Given the description of an element on the screen output the (x, y) to click on. 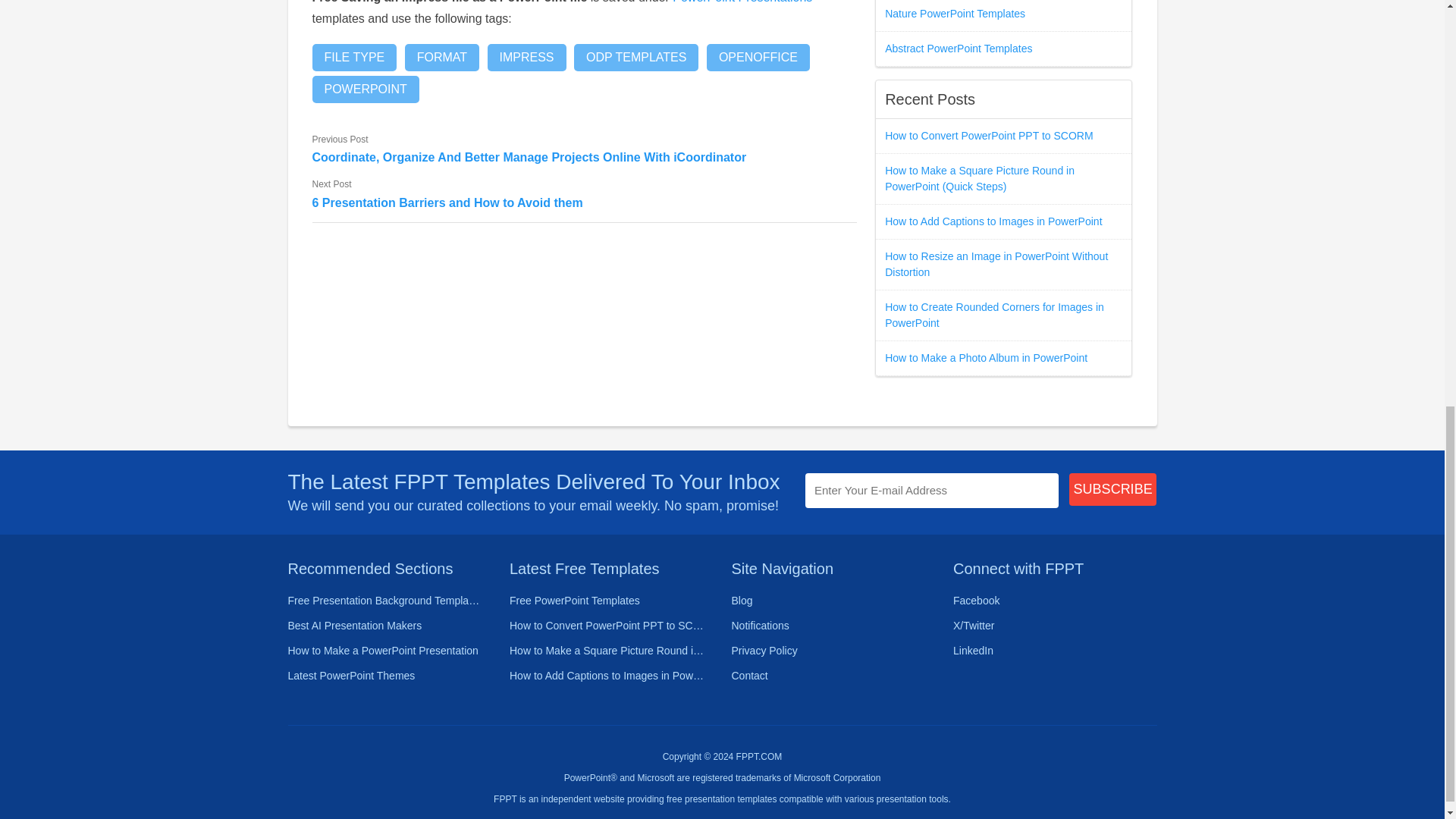
OPENOFFICE (757, 57)
FILE TYPE (355, 57)
IMPRESS (526, 57)
ODP TEMPLATES (635, 57)
FORMAT (441, 57)
POWERPOINT (366, 89)
6 Presentation Barriers and How to Avoid them (585, 202)
Subscribe (1112, 489)
PowerPoint Presentations (742, 2)
